Given the description of an element on the screen output the (x, y) to click on. 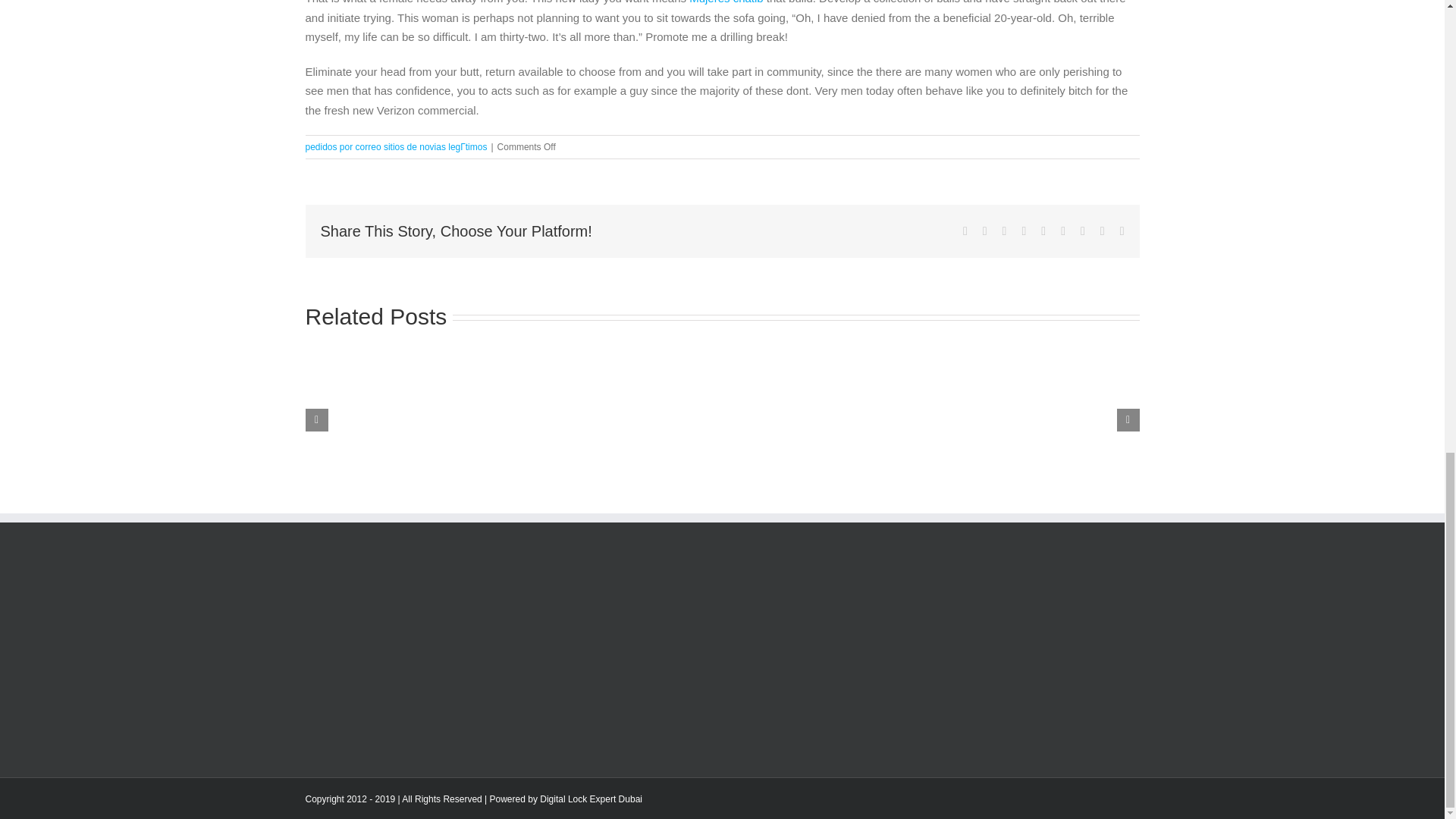
LinkedIn (1024, 231)
WhatsApp (1043, 231)
Facebook (965, 231)
Vk (1102, 231)
Reddit (1005, 231)
Twitter (984, 231)
Email (1121, 231)
Pinterest (1082, 231)
Tumblr (1063, 231)
